Given the description of an element on the screen output the (x, y) to click on. 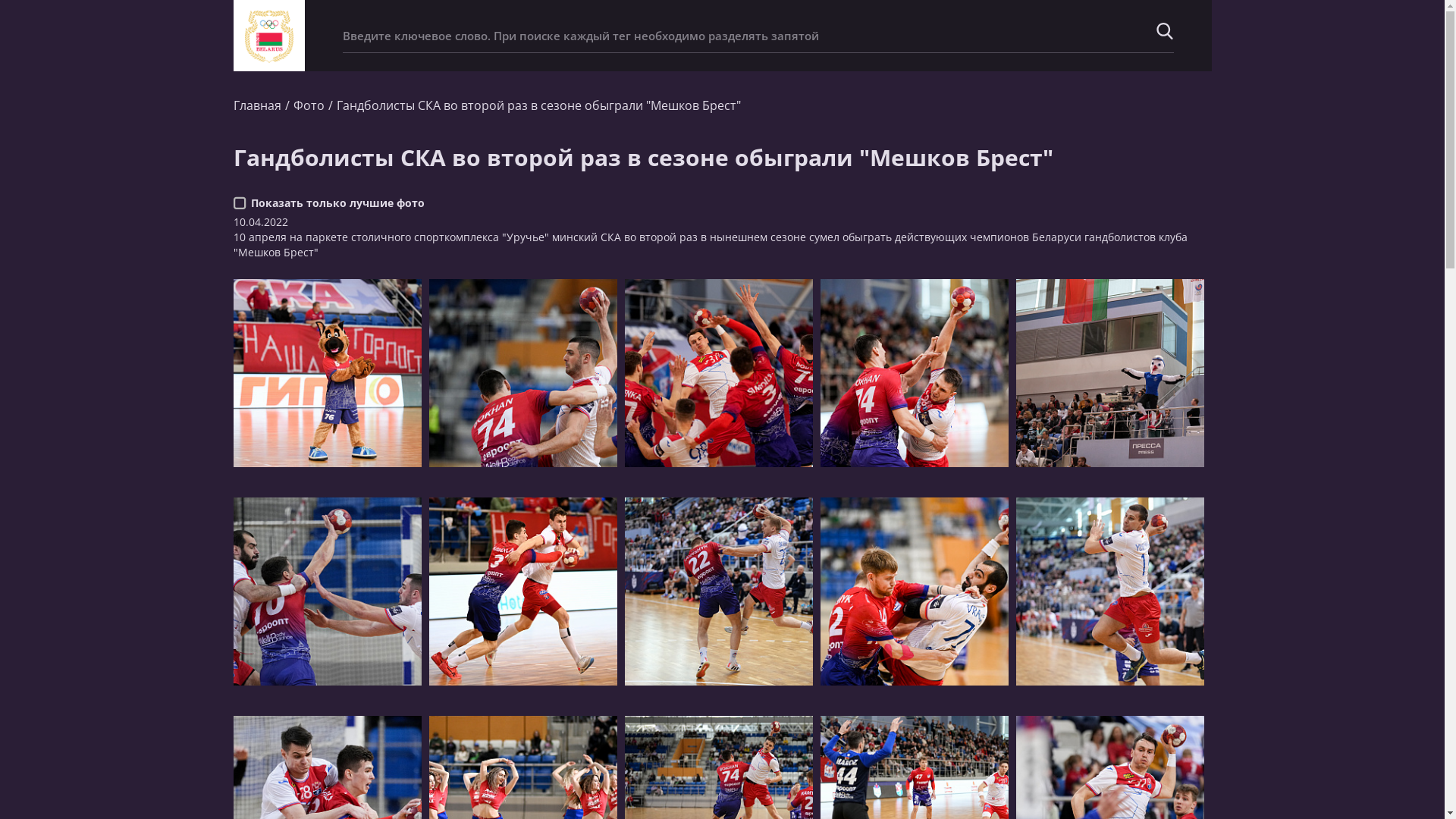
Handball 19 Element type: hover (523, 591)
Handball 11 Element type: hover (718, 373)
Handball 22 Element type: hover (1110, 591)
Handball 21 Element type: hover (914, 591)
Handball 20 Element type: hover (718, 591)
Handball 1 Element type: hover (327, 373)
Handball 18 Element type: hover (327, 591)
